Given the description of an element on the screen output the (x, y) to click on. 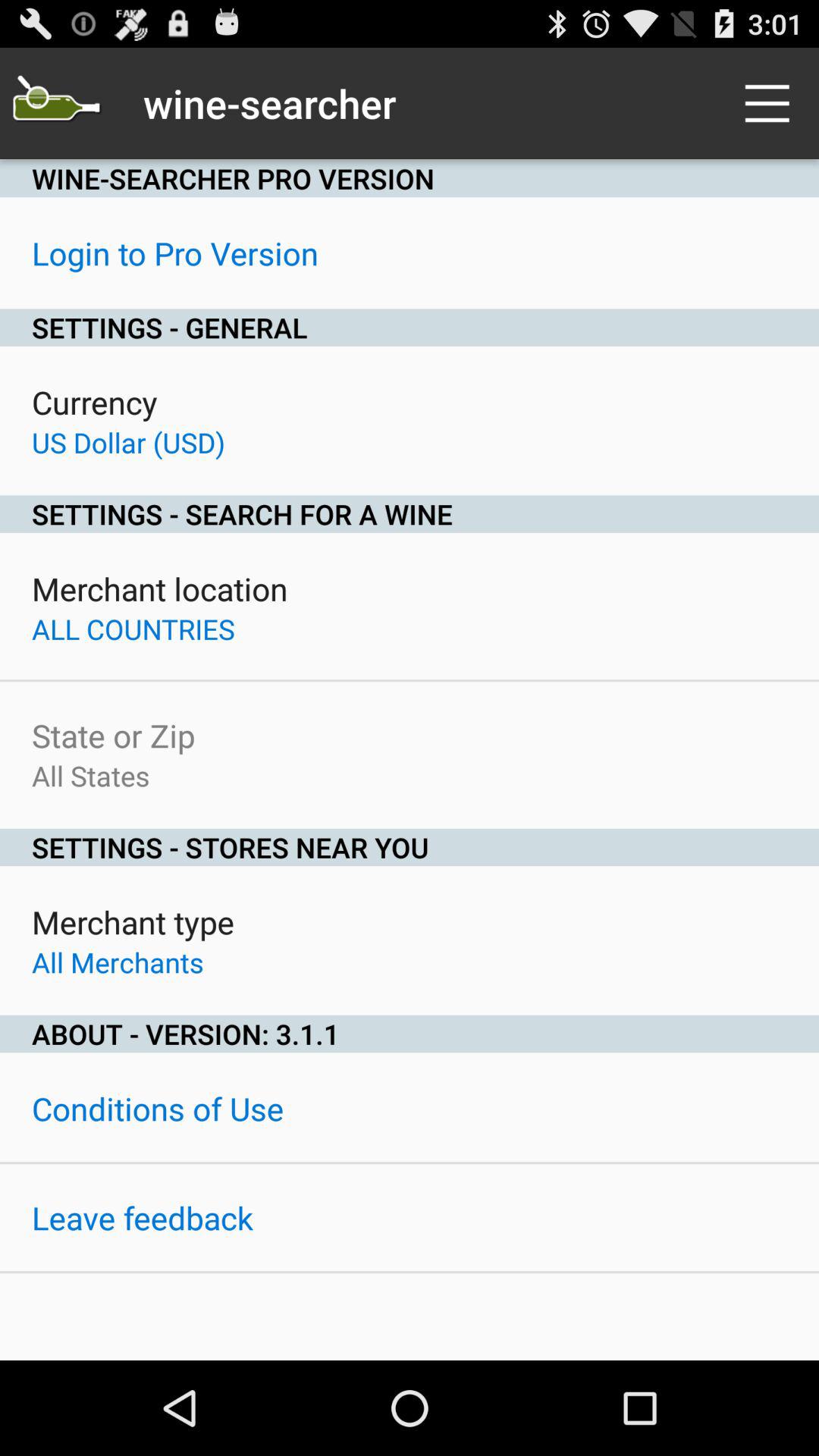
launch the login to pro icon (174, 252)
